Given the description of an element on the screen output the (x, y) to click on. 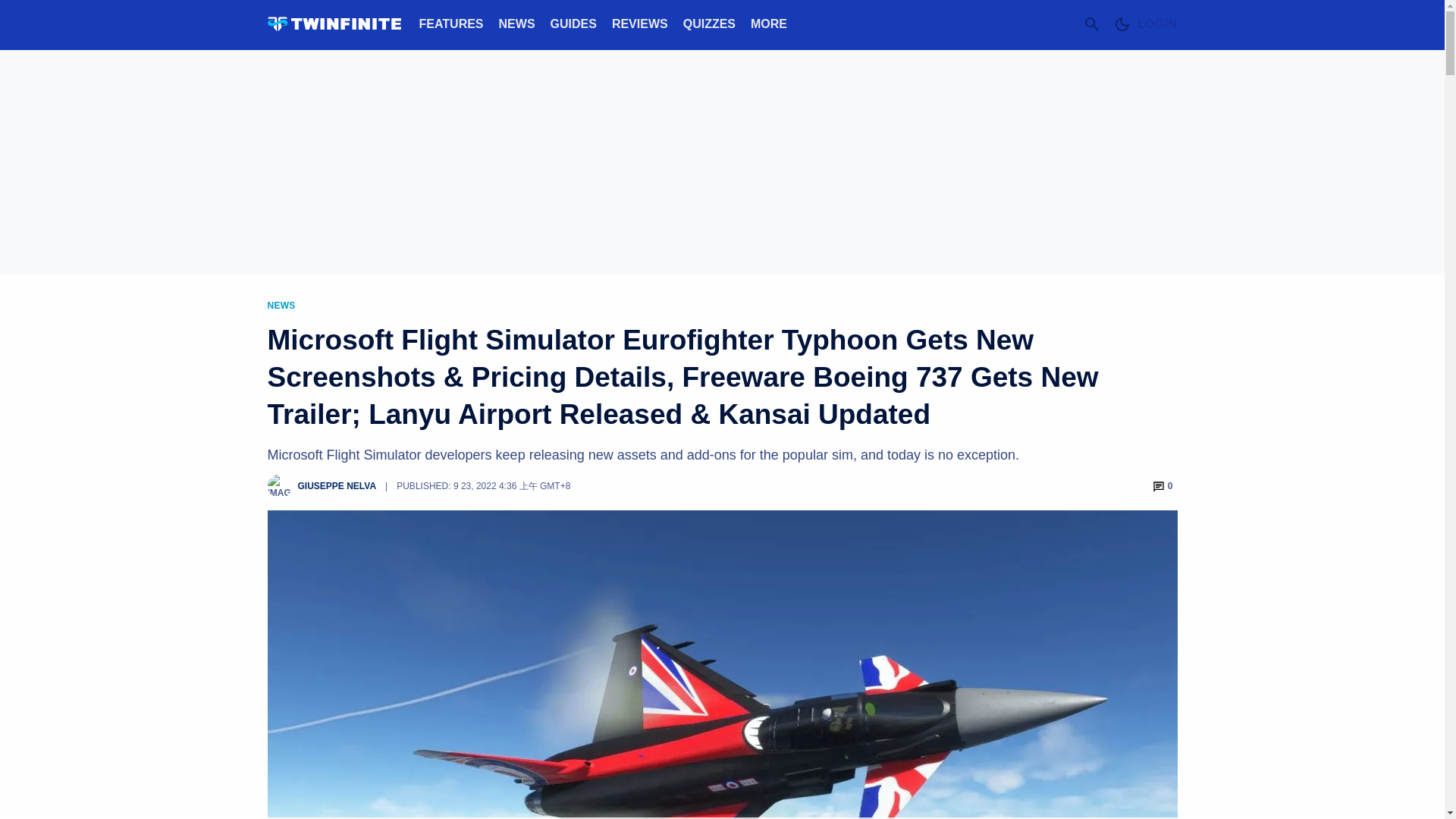
GUIDES (573, 23)
LOGIN (1156, 24)
QUIZZES (708, 23)
FEATURES (451, 23)
REVIEWS (639, 23)
NEWS (517, 23)
Dark Mode (1121, 24)
Search (1091, 24)
